Given the description of an element on the screen output the (x, y) to click on. 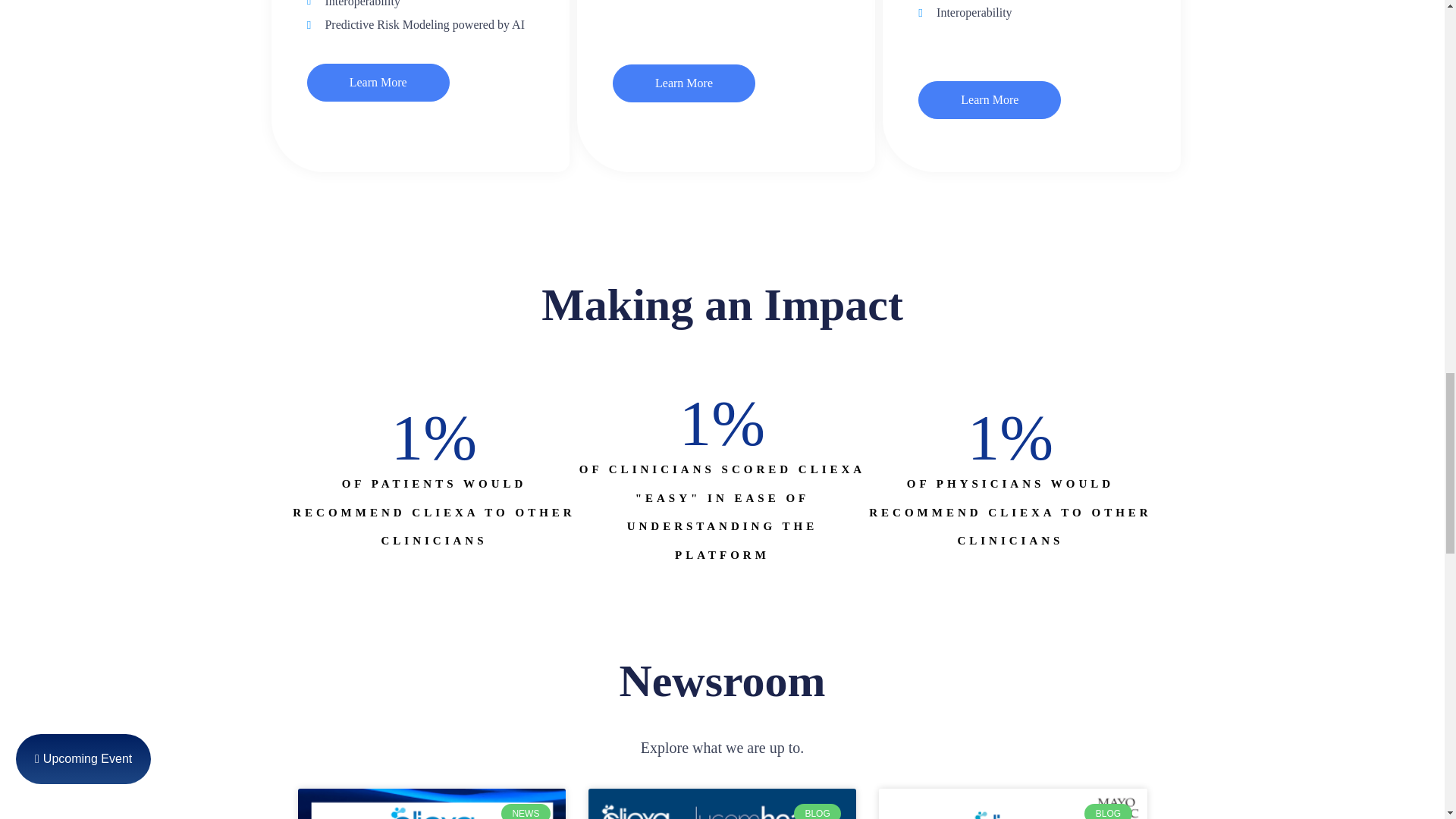
Learn More (378, 82)
Learn More (989, 99)
Learn More (683, 83)
